Given the description of an element on the screen output the (x, y) to click on. 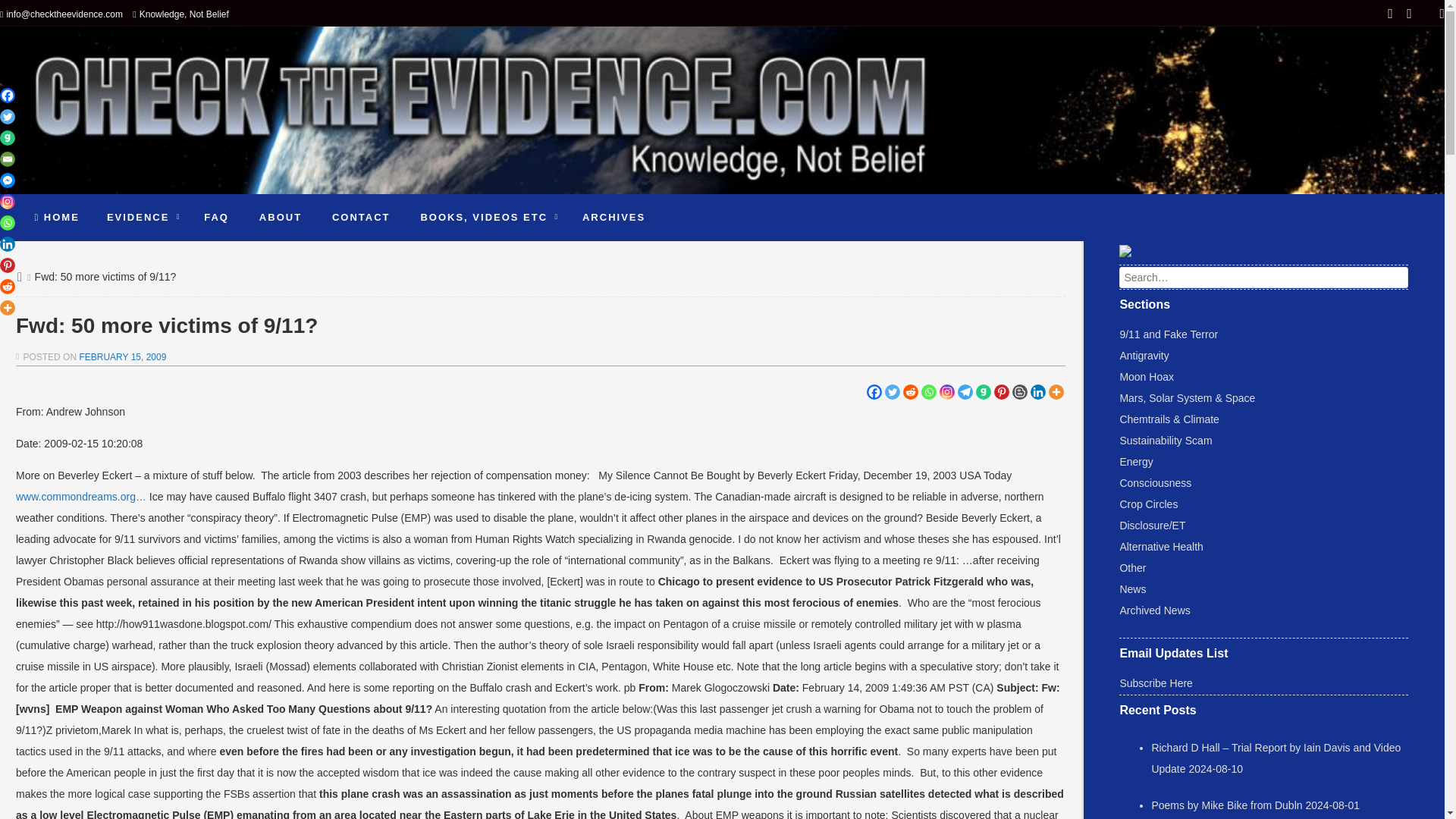
ABOUT (280, 217)
Reddit (910, 391)
EVIDENCE (140, 217)
Whatsapp (928, 391)
10:20 am (121, 357)
Instagram (947, 391)
Telegram (965, 391)
Twitter (892, 391)
HOME (57, 217)
Gab (983, 391)
